Given the description of an element on the screen output the (x, y) to click on. 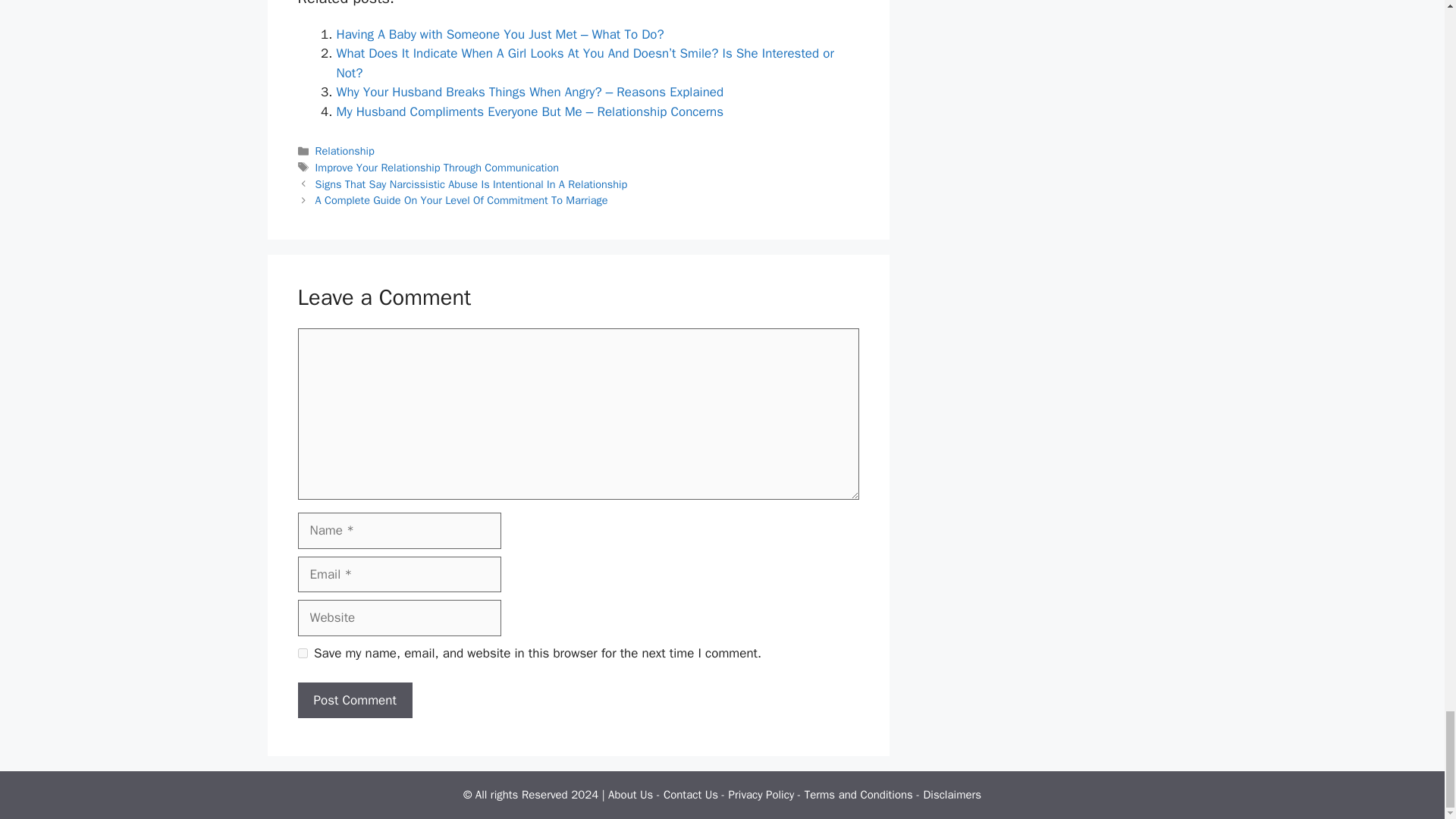
Post Comment (354, 700)
Improve Your Relationship Through Communication (437, 167)
Post Comment (354, 700)
yes (302, 653)
A Complete Guide On Your Level Of Commitment To Marriage (461, 200)
Relationship (344, 151)
